Given the description of an element on the screen output the (x, y) to click on. 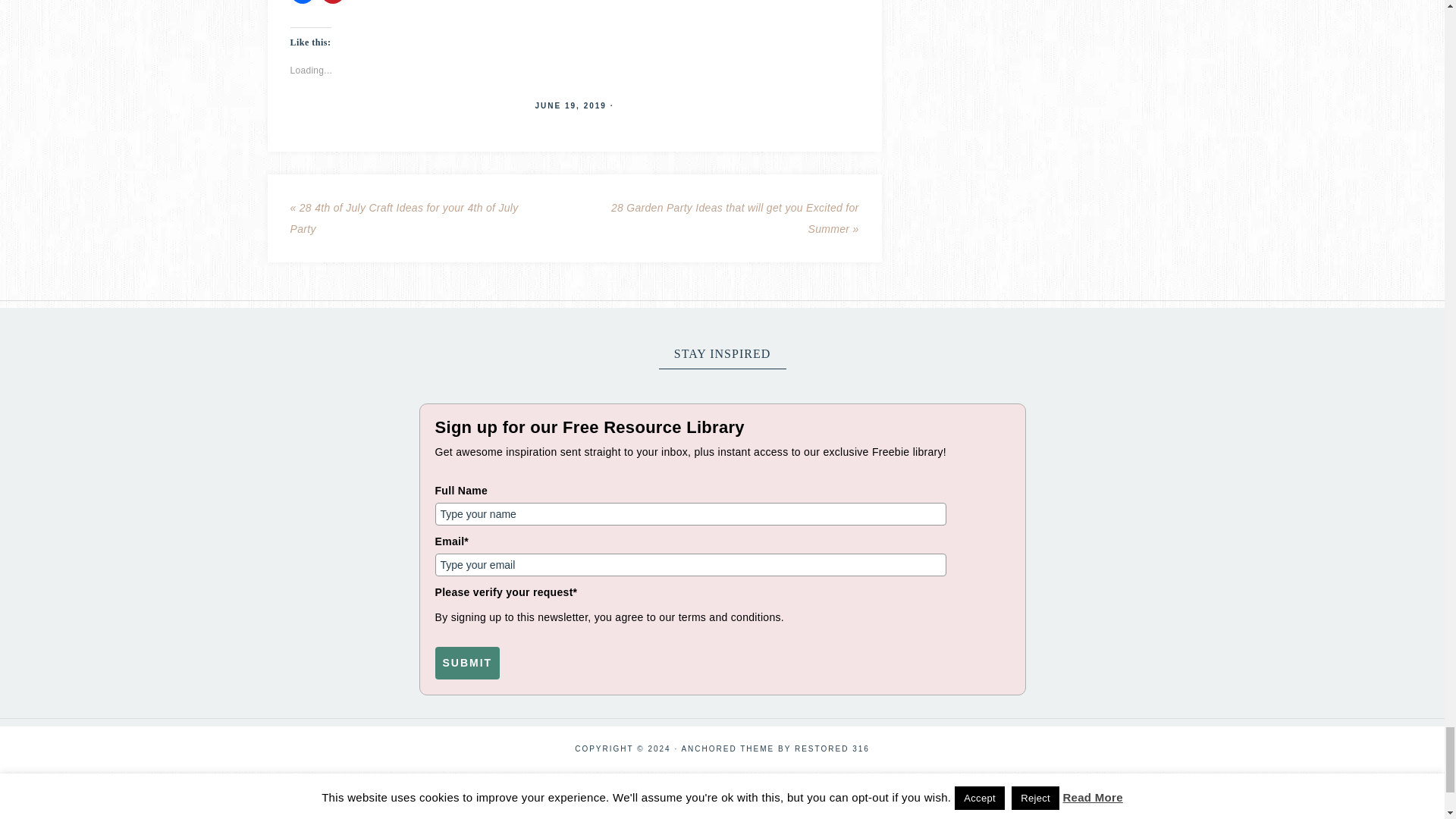
Click to share on Facebook (301, 2)
Click to share on Pinterest (331, 2)
